Given the description of an element on the screen output the (x, y) to click on. 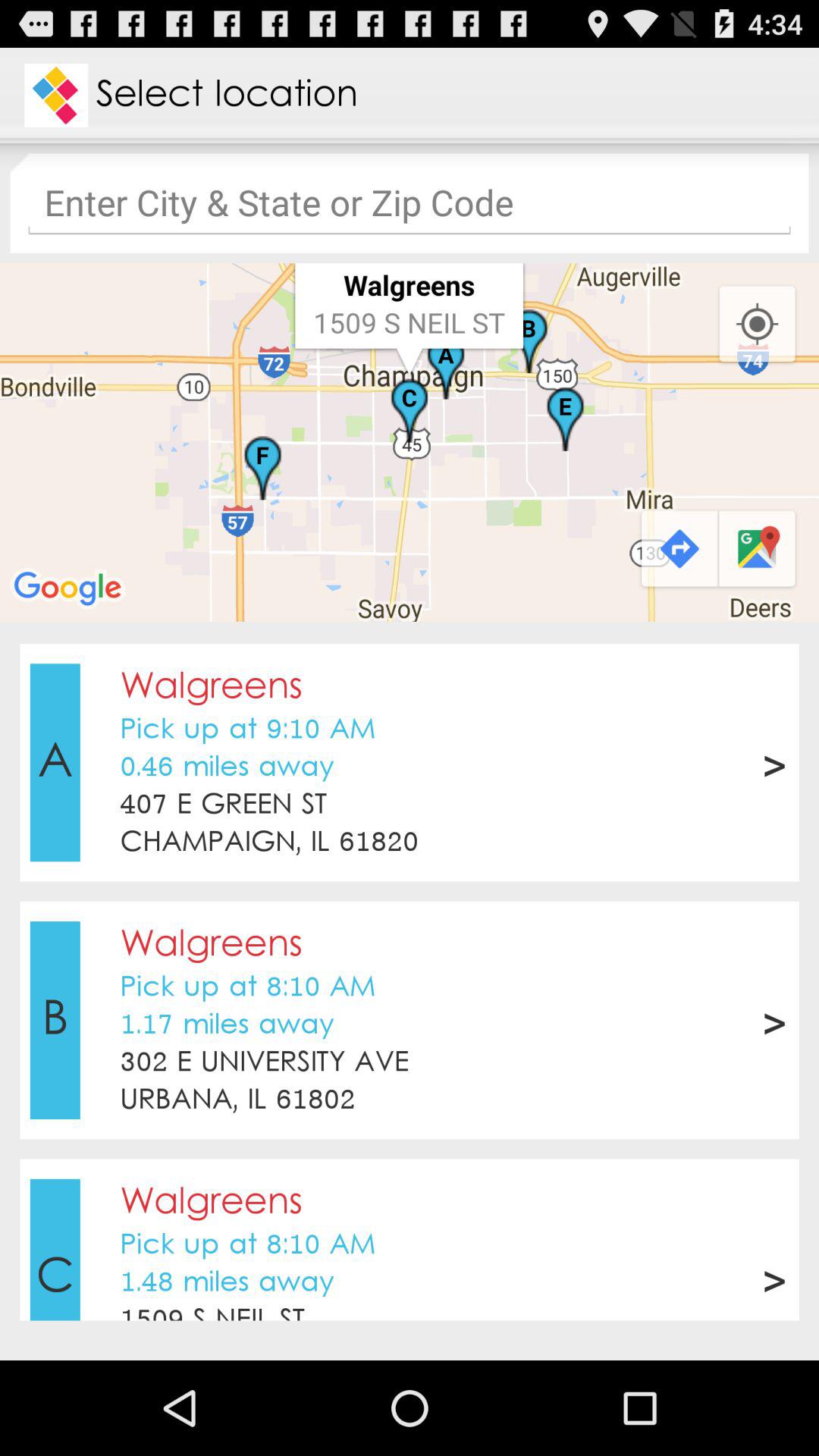
open the icon below pick up at icon (226, 767)
